Given the description of an element on the screen output the (x, y) to click on. 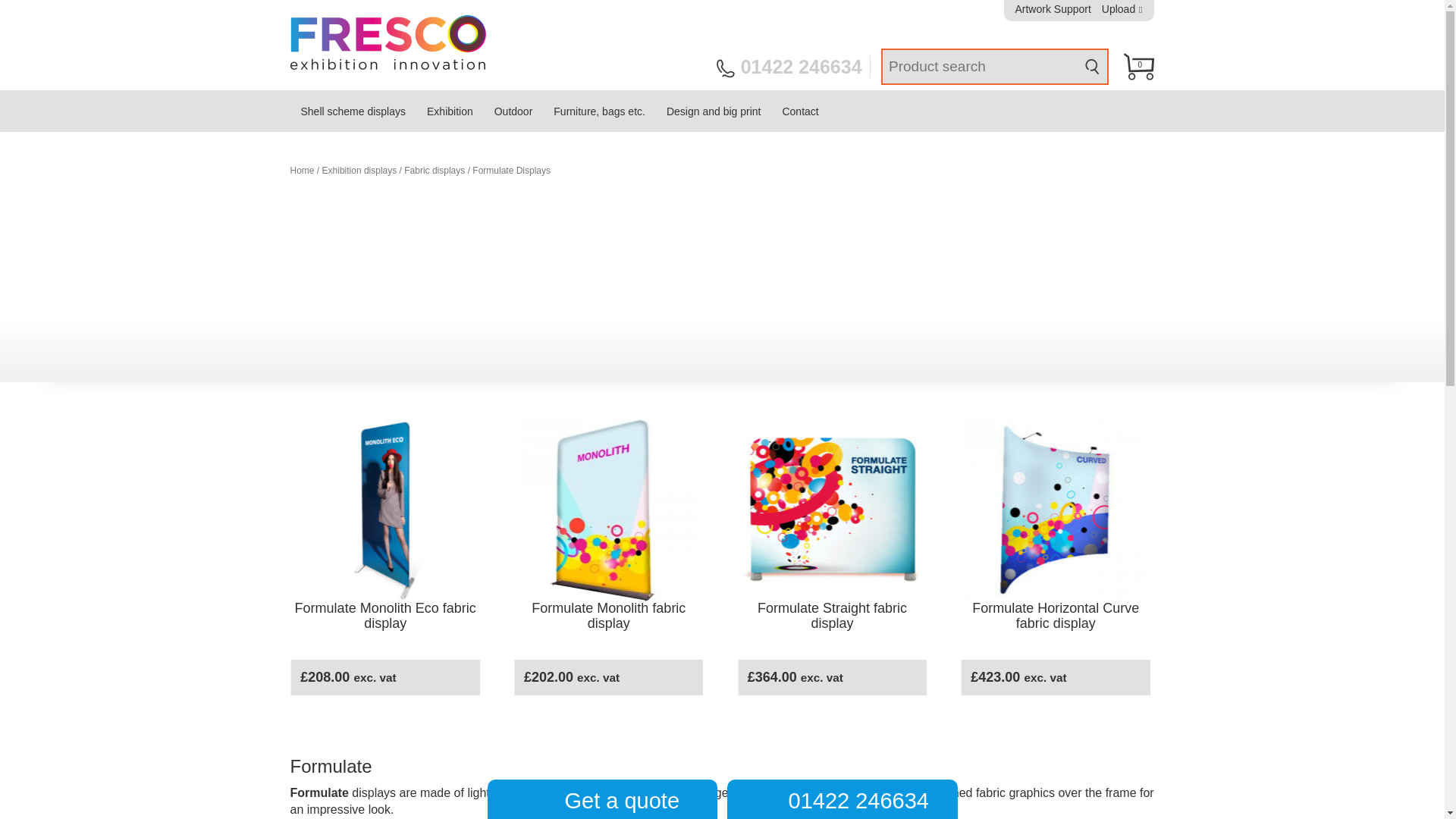
Exhibition (449, 110)
Artwork Support (1052, 9)
Upload (1122, 9)
0 (1139, 66)
Start shopping (1139, 66)
Shell scheme displays (352, 110)
Outdoor (513, 110)
01422 246634 (793, 66)
